Given the description of an element on the screen output the (x, y) to click on. 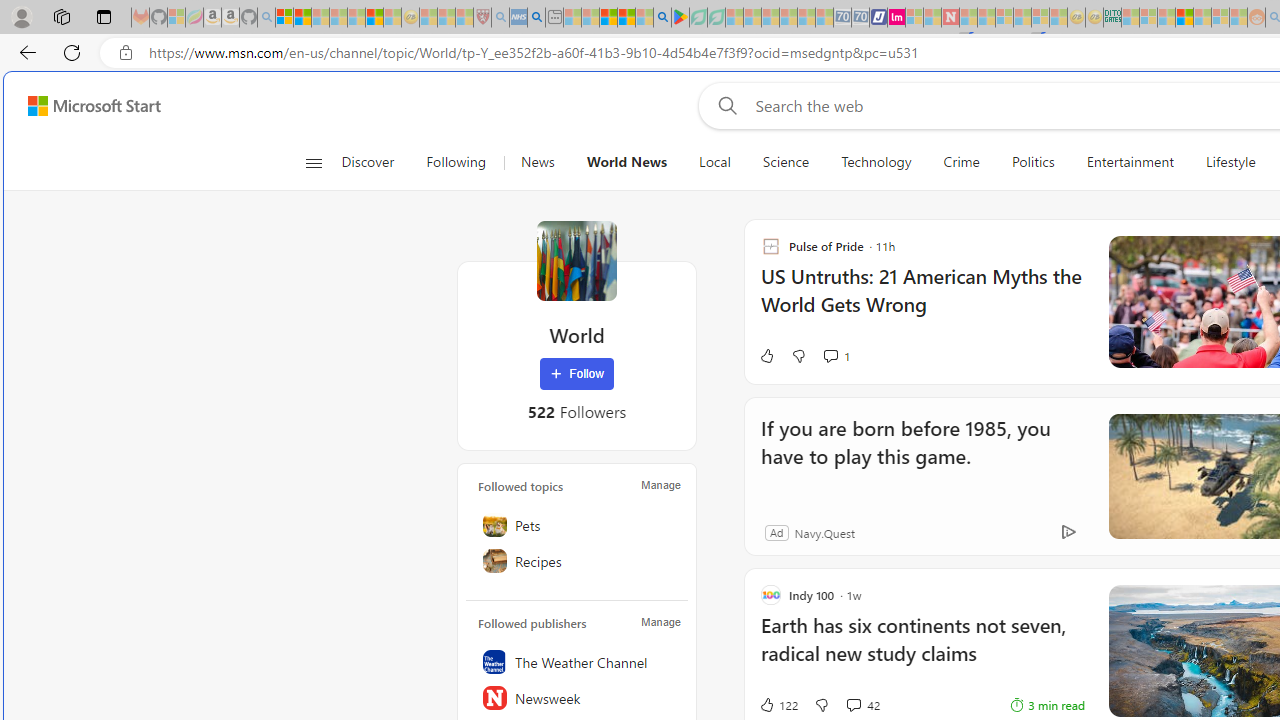
The Weather Channel (577, 661)
View comments 42 Comment (852, 704)
World (576, 260)
View comments 42 Comment (862, 704)
If you are born before 1985, you have to play this game. (916, 455)
122 Like (778, 704)
